Given the description of an element on the screen output the (x, y) to click on. 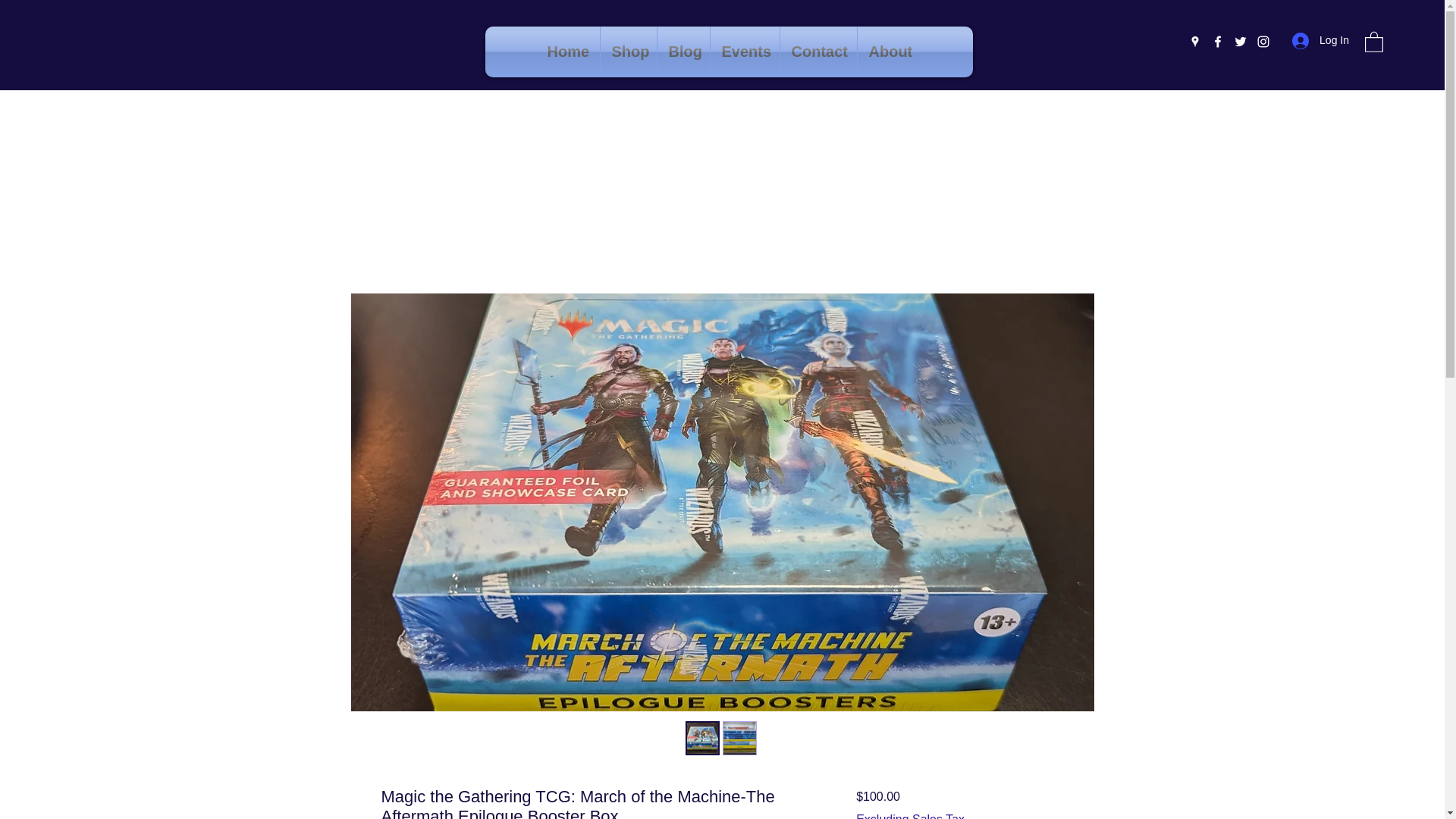
Events (744, 51)
About (889, 51)
Log In (1320, 40)
Contact (817, 51)
Shop (627, 51)
Blog (682, 51)
Home (566, 51)
